Given the description of an element on the screen output the (x, y) to click on. 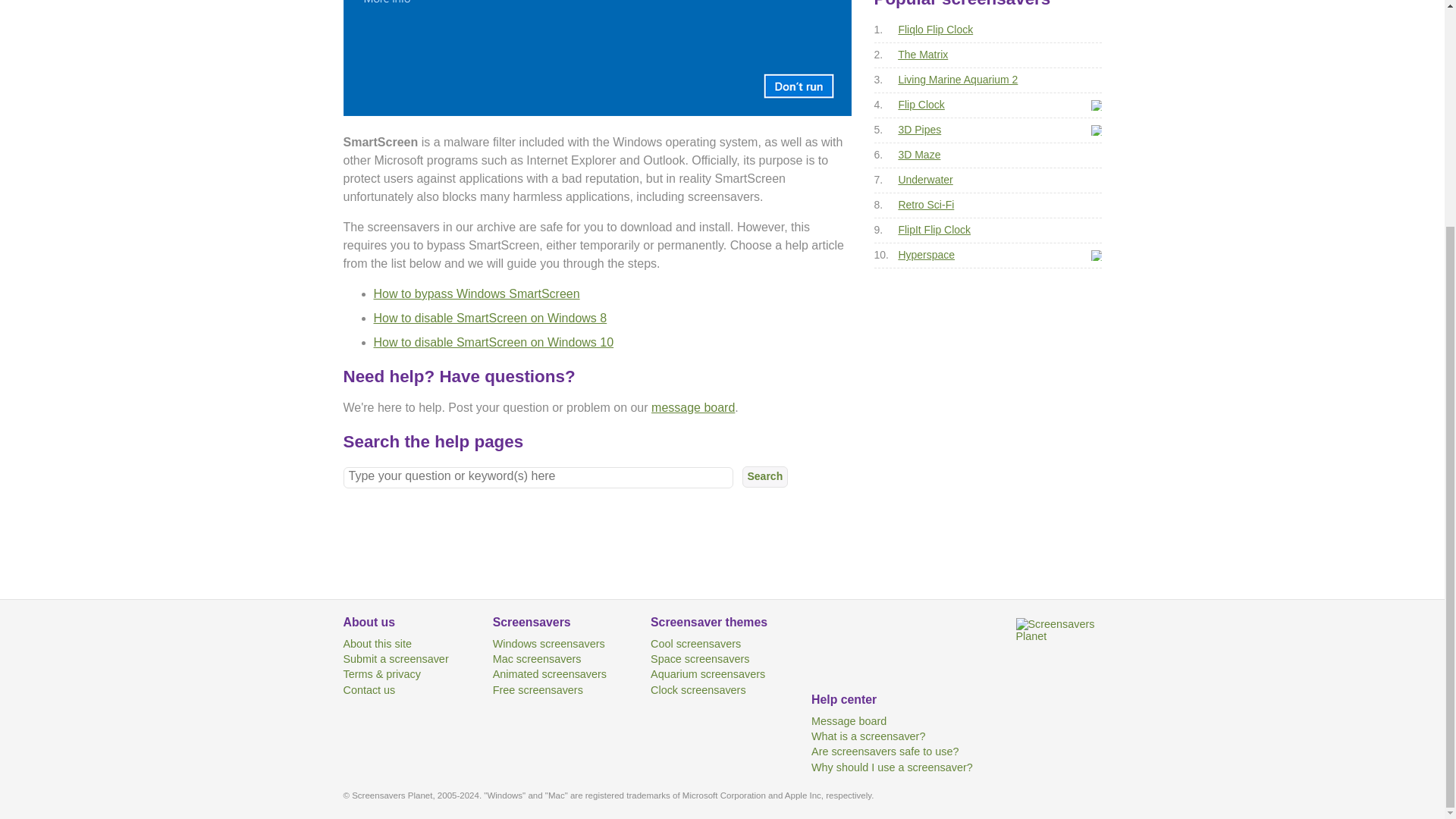
Living Marine Aquarium 2 (957, 79)
FlipIt Flip Clock (934, 229)
Hyperspace (926, 254)
How to disable SmartScreen on Windows 10 (492, 341)
The Matrix (922, 54)
-1 (1095, 130)
How to bypass Windows SmartScreen (475, 293)
Search (764, 476)
Underwater (925, 179)
Search (764, 476)
